Given the description of an element on the screen output the (x, y) to click on. 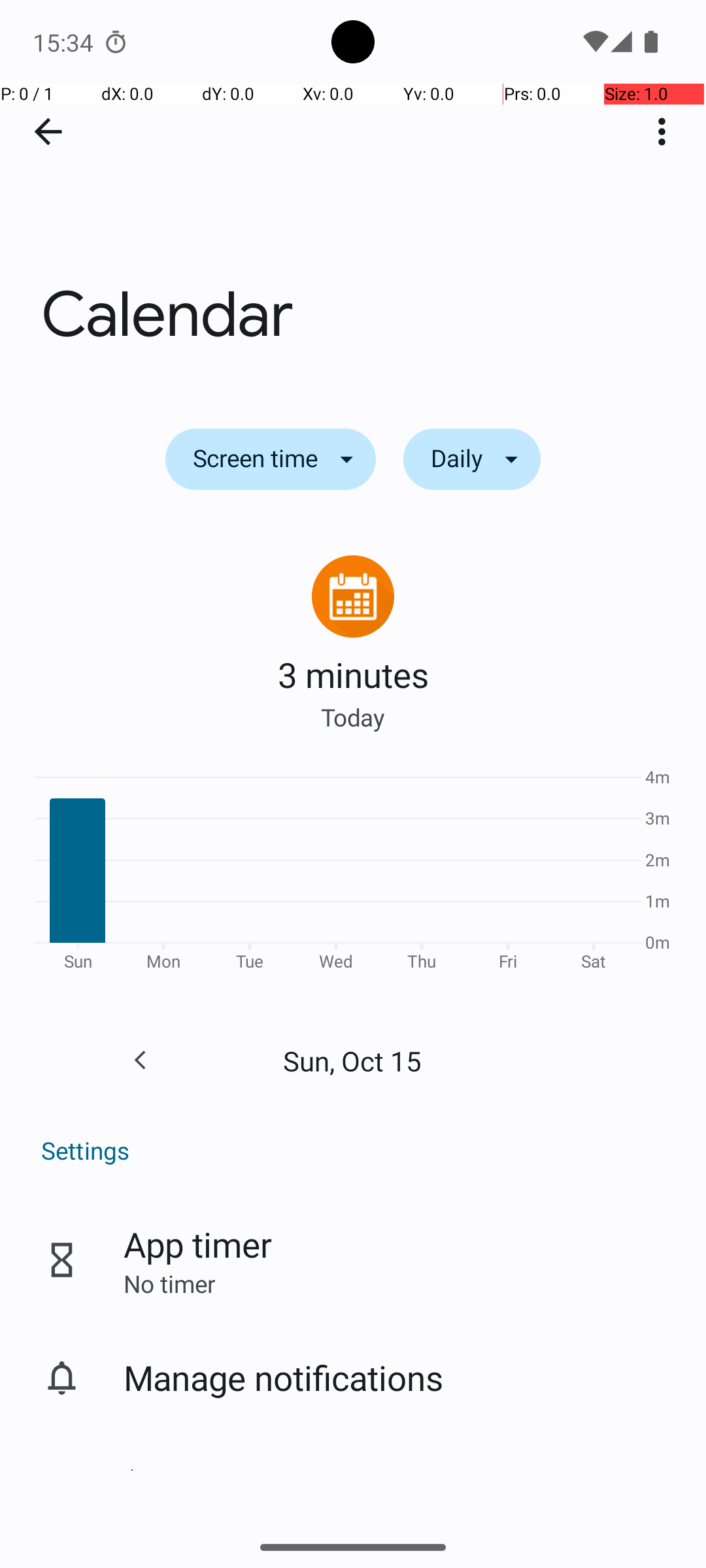
3 minutes Element type: android.widget.TextView (353, 674)
